Given the description of an element on the screen output the (x, y) to click on. 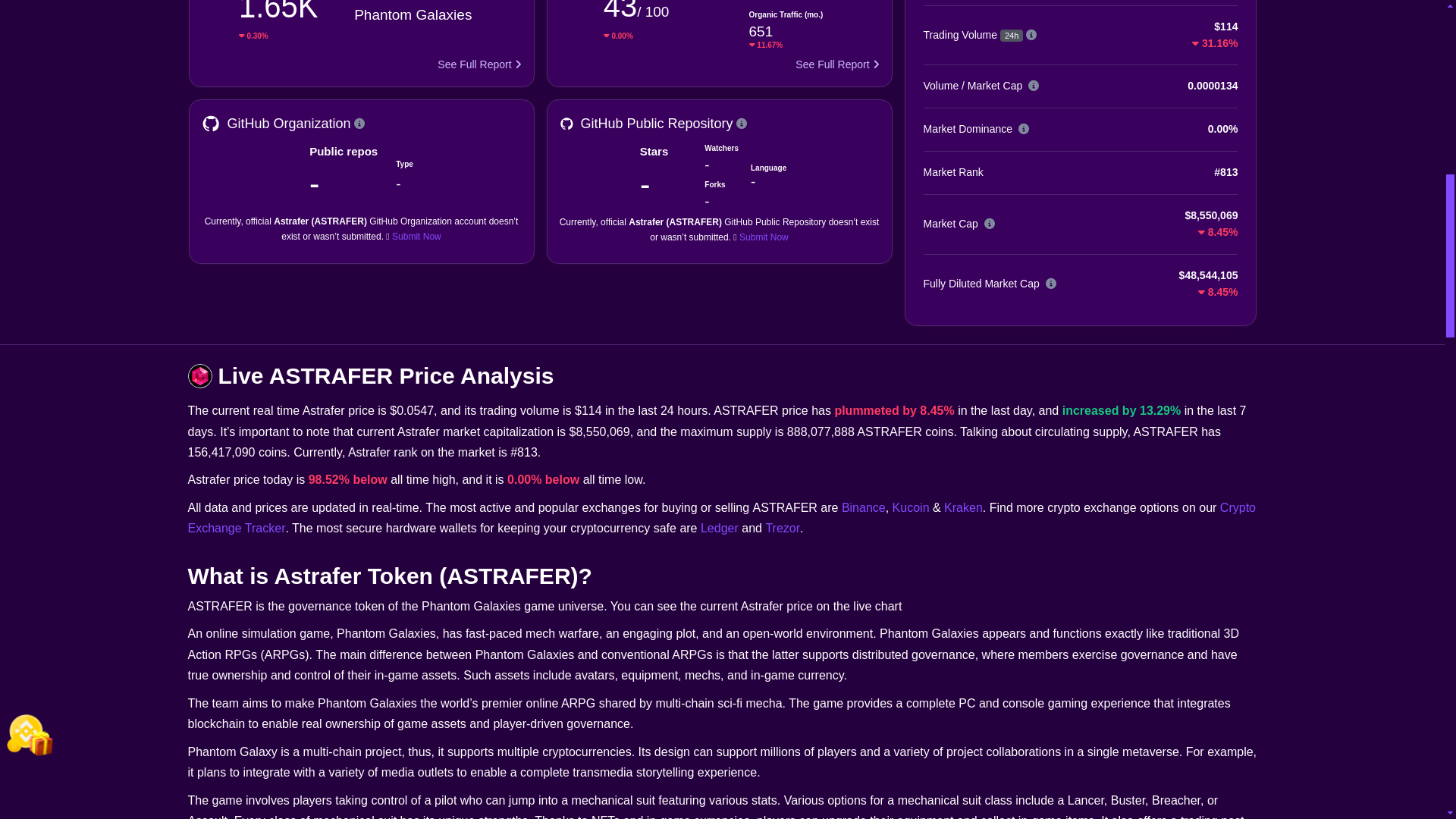
Kucoin (911, 508)
Astrafer github (211, 124)
Submit Now (416, 235)
Binance (863, 508)
Kraken (962, 508)
See Full Report (479, 65)
Submit Now (764, 236)
See Full Report (836, 65)
Astrafer logo (199, 375)
